Given the description of an element on the screen output the (x, y) to click on. 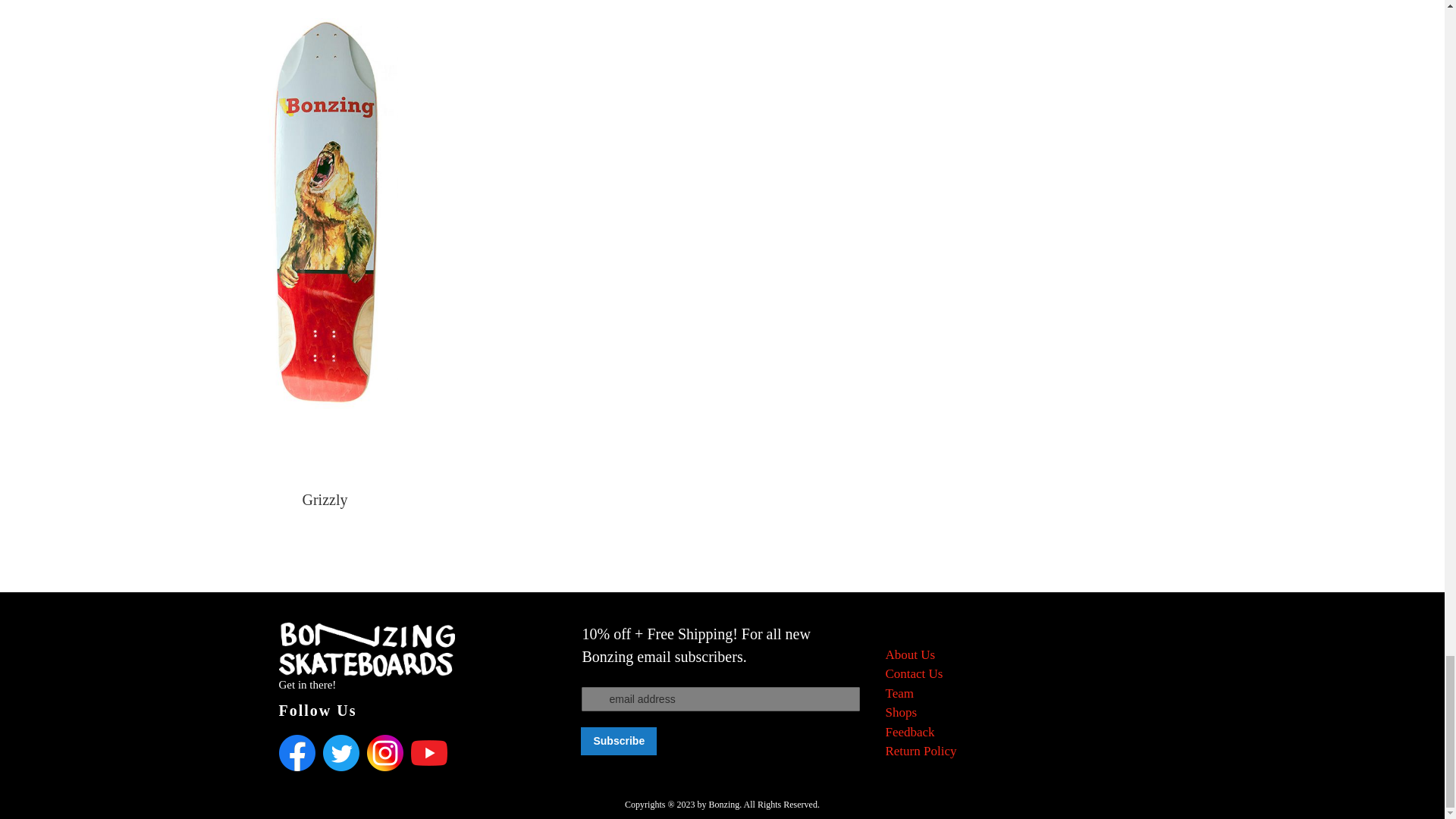
Grizzly (324, 499)
Subscribe (618, 741)
